Given the description of an element on the screen output the (x, y) to click on. 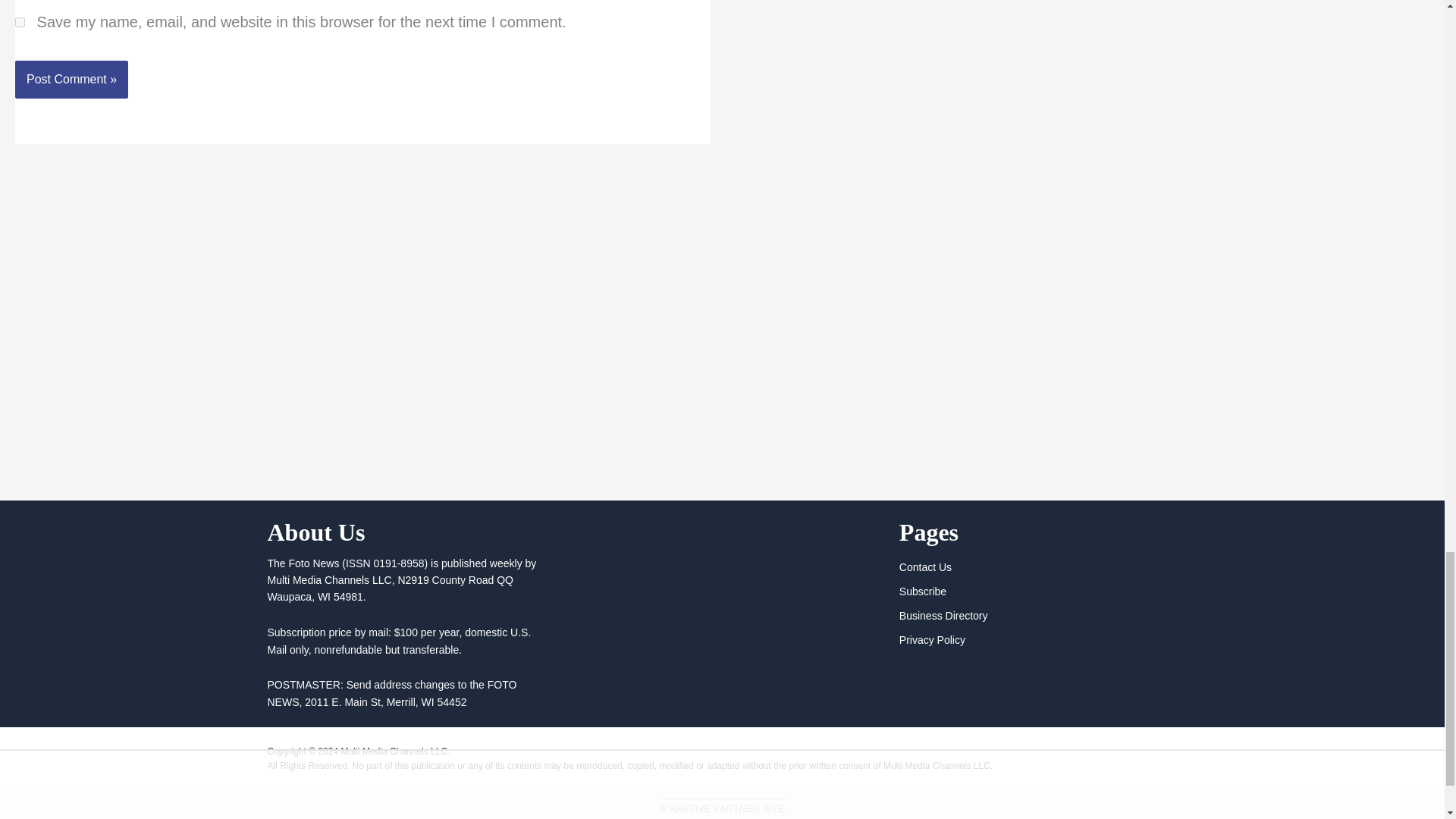
yes (19, 22)
